Given the description of an element on the screen output the (x, y) to click on. 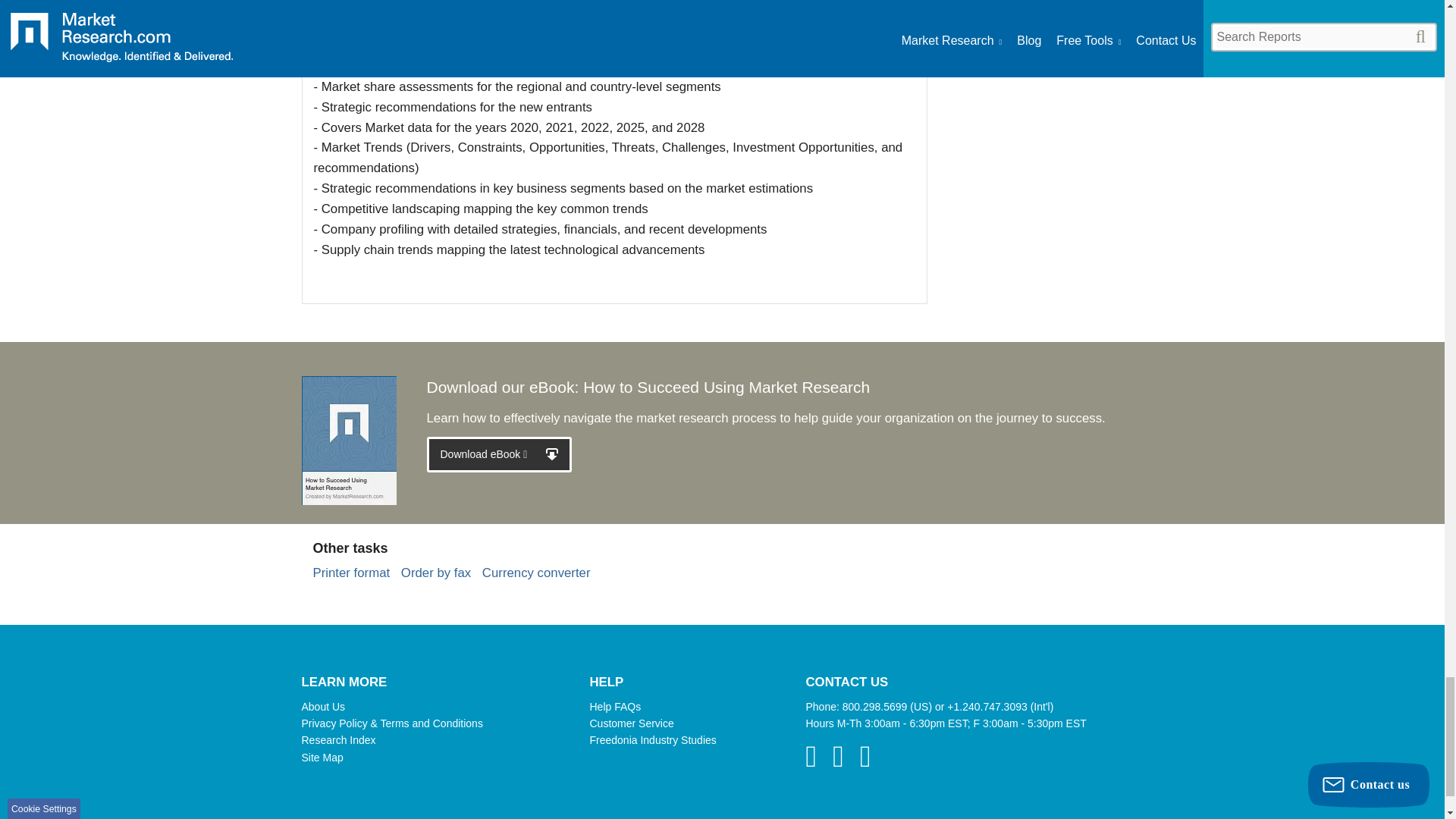
Download eBook (499, 454)
